Given the description of an element on the screen output the (x, y) to click on. 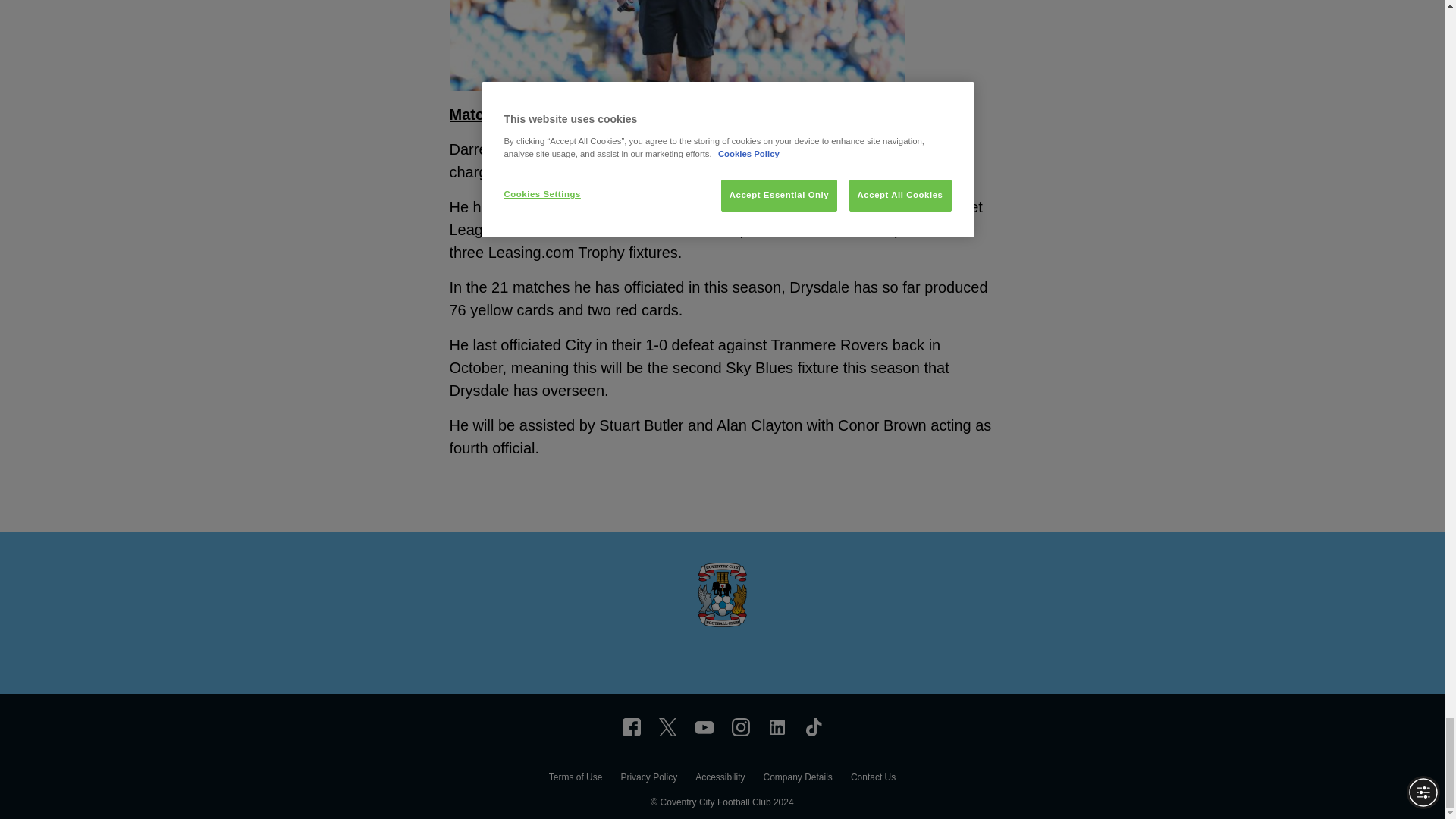
Contact Us (872, 779)
Company Details (796, 779)
Company Details (796, 779)
Contact Us (872, 779)
Accessibility (719, 779)
Privacy Policy (648, 779)
Coventry City FC (630, 727)
Terms of Use (575, 779)
Privacy Policy (648, 779)
Terms of Use (575, 779)
